Given the description of an element on the screen output the (x, y) to click on. 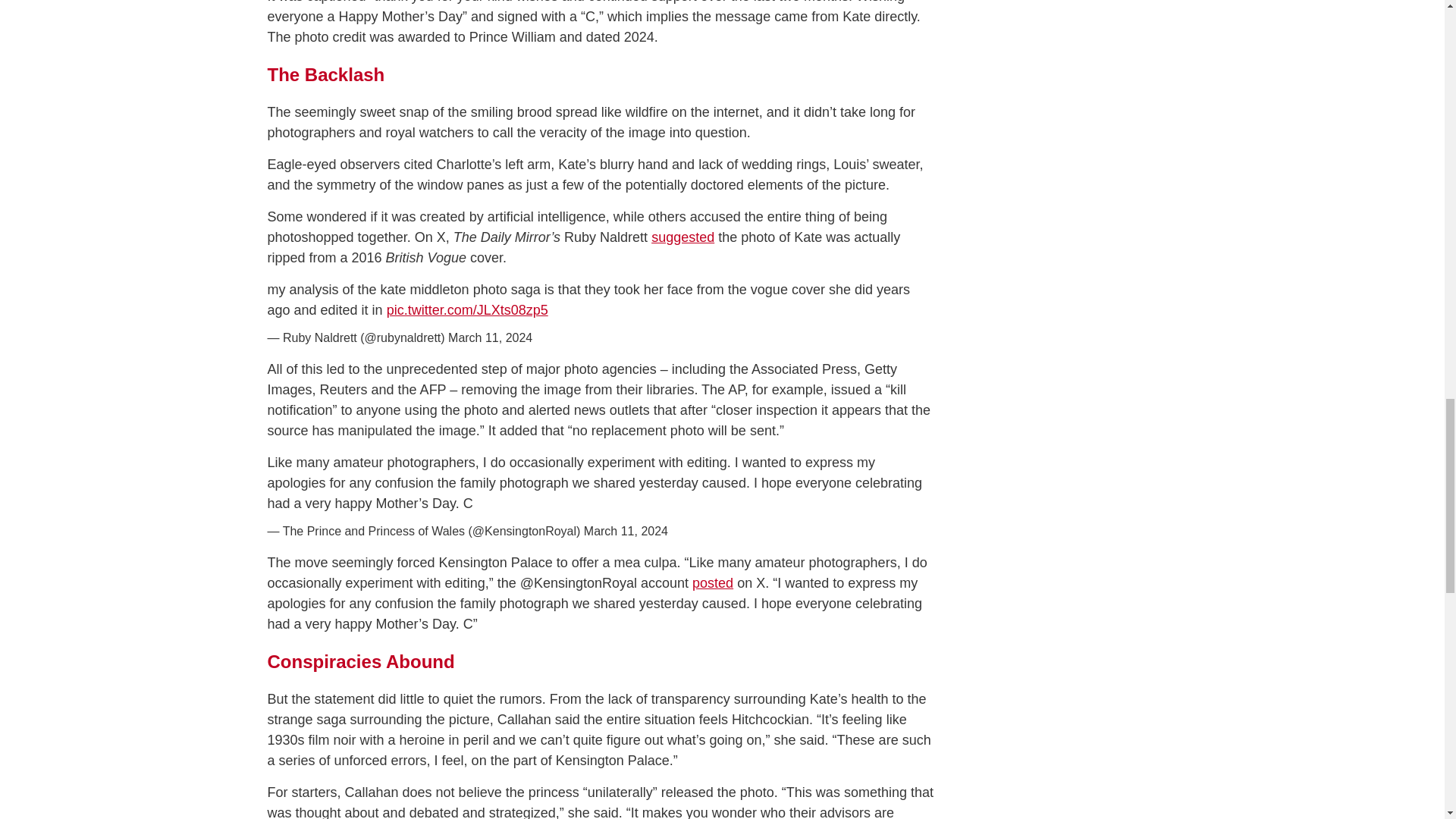
March 11, 2024 (625, 530)
suggested (682, 237)
March 11, 2024 (490, 337)
